Given the description of an element on the screen output the (x, y) to click on. 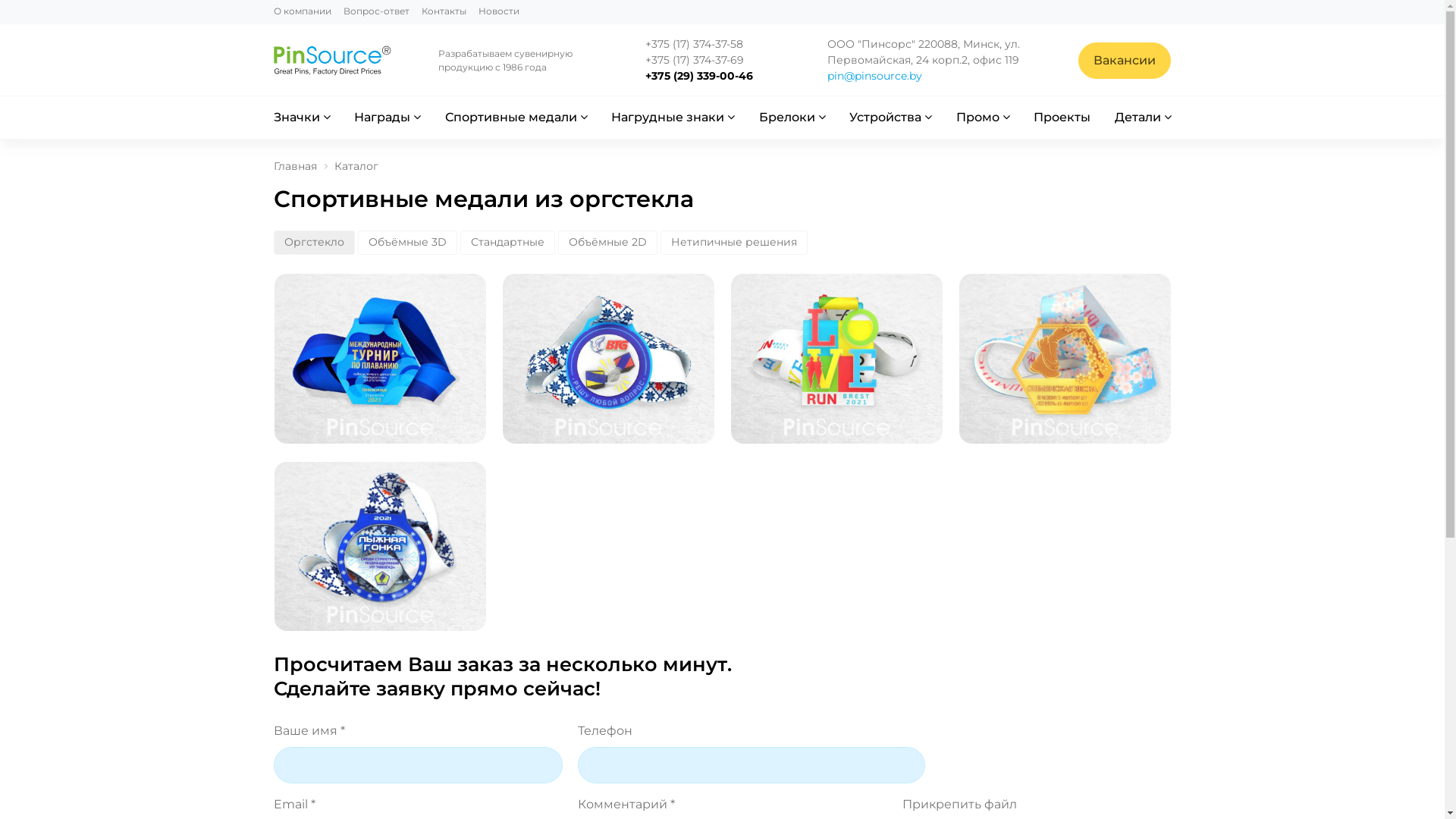
+375 (29) 339-00-46 Element type: text (700, 76)
+375 (17) 374-37-58 Element type: text (700, 44)
pinsource Element type: hover (332, 60)
pin@pinsource.by Element type: text (874, 75)
+375 (17) 374-37-69 Element type: text (700, 60)
